Given the description of an element on the screen output the (x, y) to click on. 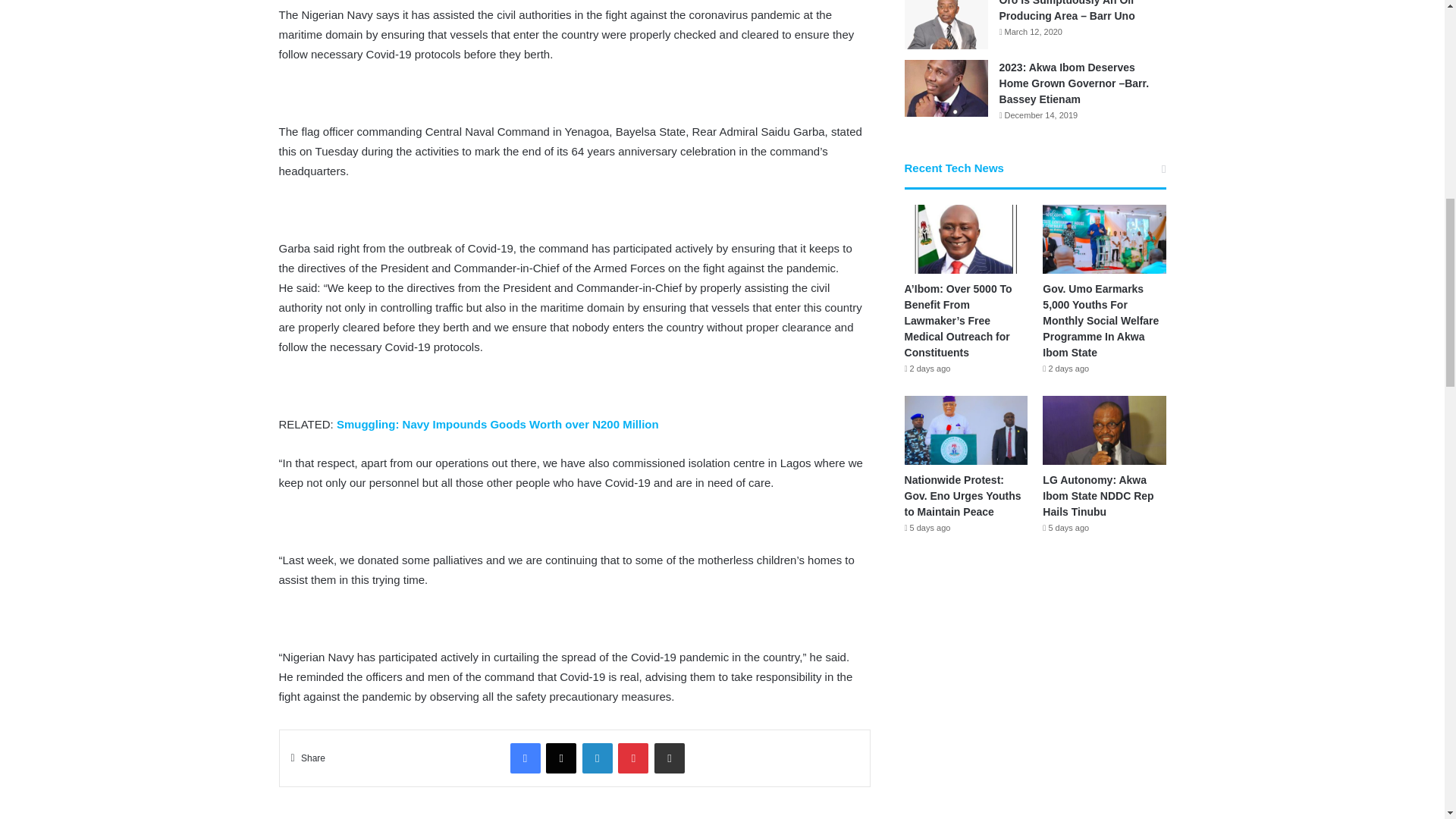
X (561, 757)
Pinterest (632, 757)
Share via Email (668, 757)
X (561, 757)
Pinterest (632, 757)
Share via Email (668, 757)
Facebook (524, 757)
Facebook (524, 757)
Smuggling: Navy Impounds Goods Worth over N200 Million (497, 423)
LinkedIn (597, 757)
